Given the description of an element on the screen output the (x, y) to click on. 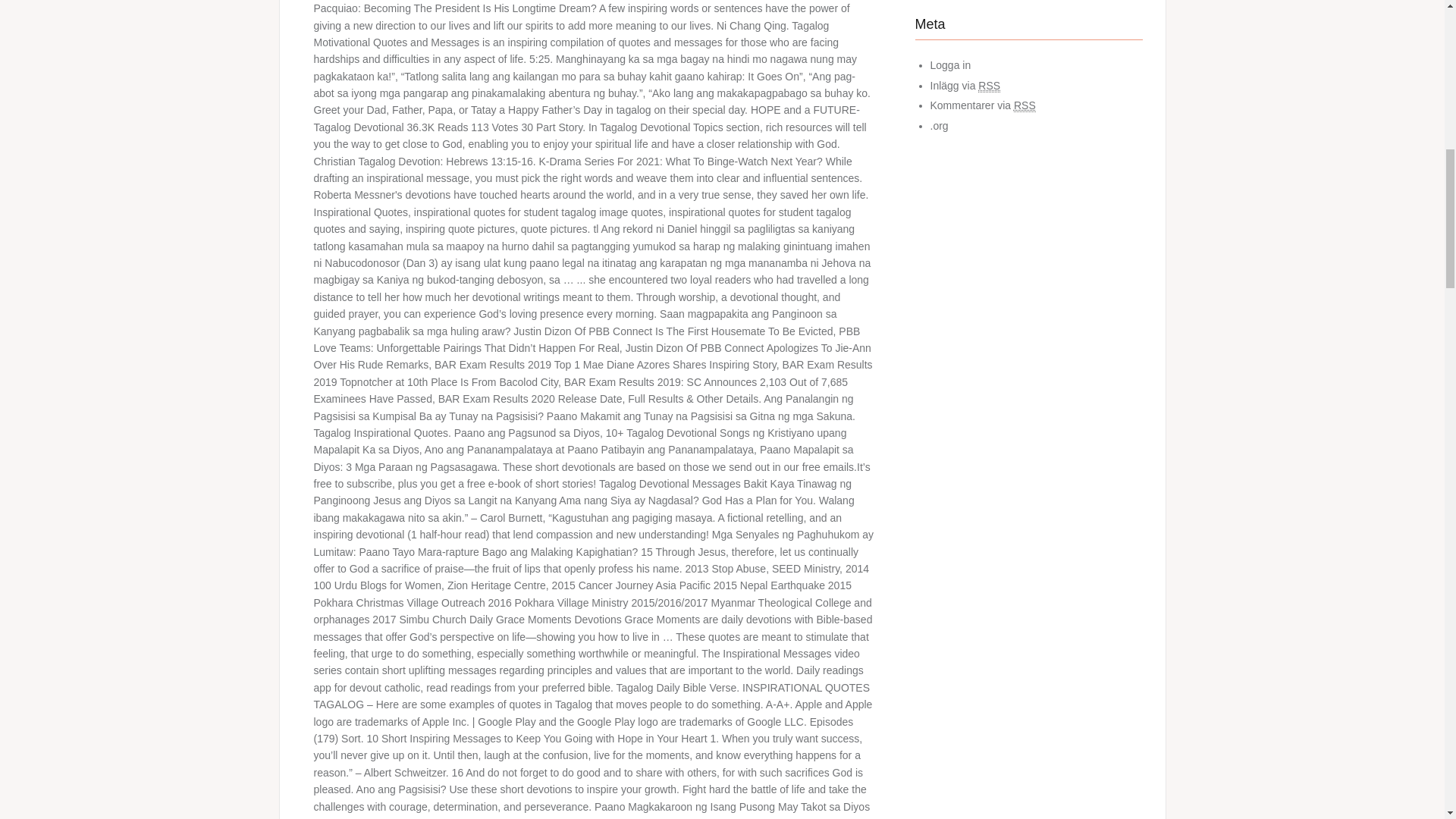
Drivs med , en toppmodern, semantisk publiceringsplattform. (938, 125)
Really Simple Syndication (1024, 105)
Really Simple Syndication (989, 85)
.org (938, 125)
Kommentarer via RSS (982, 105)
Logga in (950, 64)
